Given the description of an element on the screen output the (x, y) to click on. 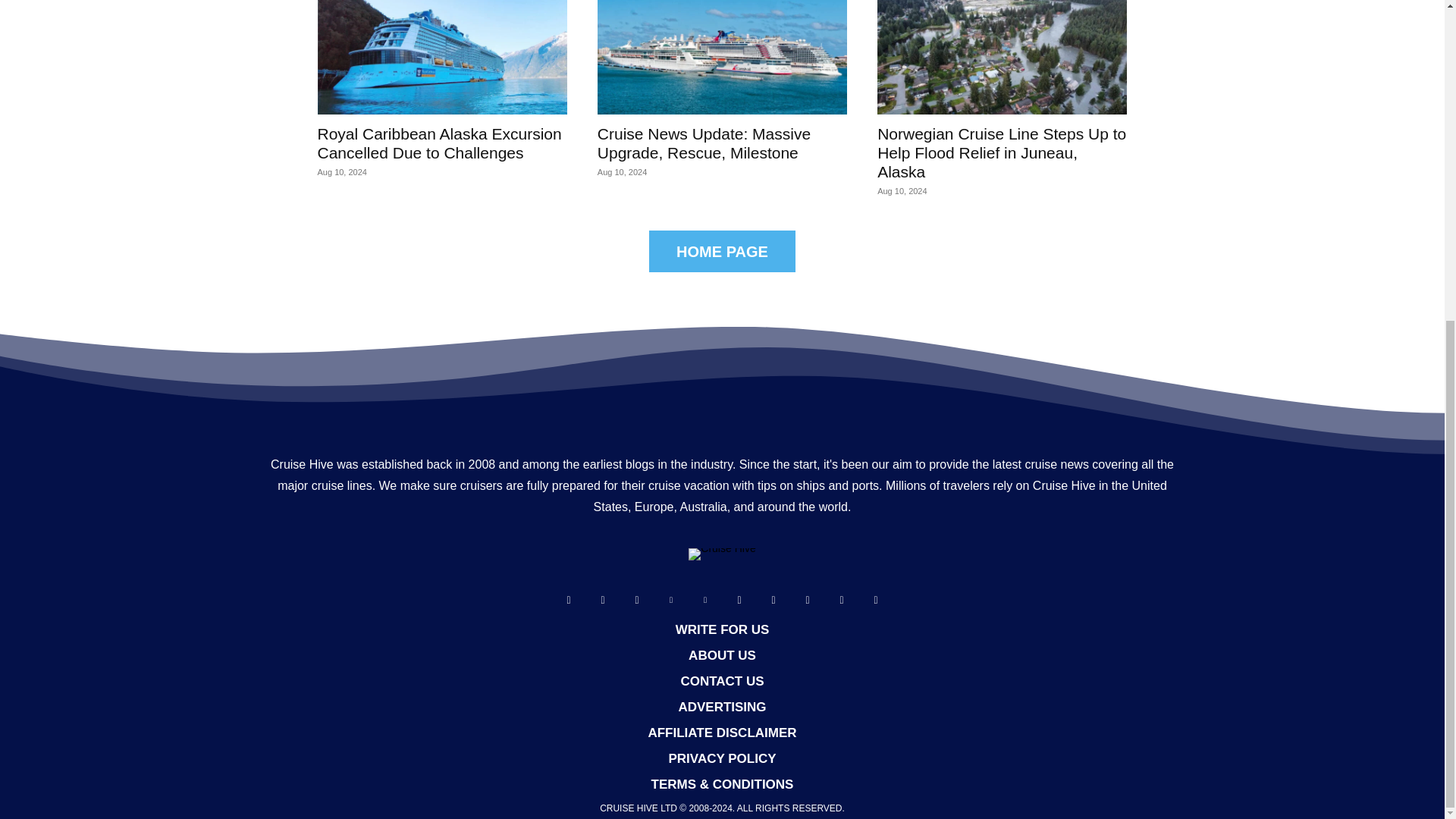
Cruise News Update: Massive Upgrade, Rescue, Milestone (703, 143)
Royal Caribbean Alaska Excursion Cancelled Due to Challenges (438, 143)
Royal Caribbean Alaska Excursion Cancelled Due to Challenges (441, 57)
Cruise News Update: Massive Upgrade, Rescue, Milestone (721, 57)
